Given the description of an element on the screen output the (x, y) to click on. 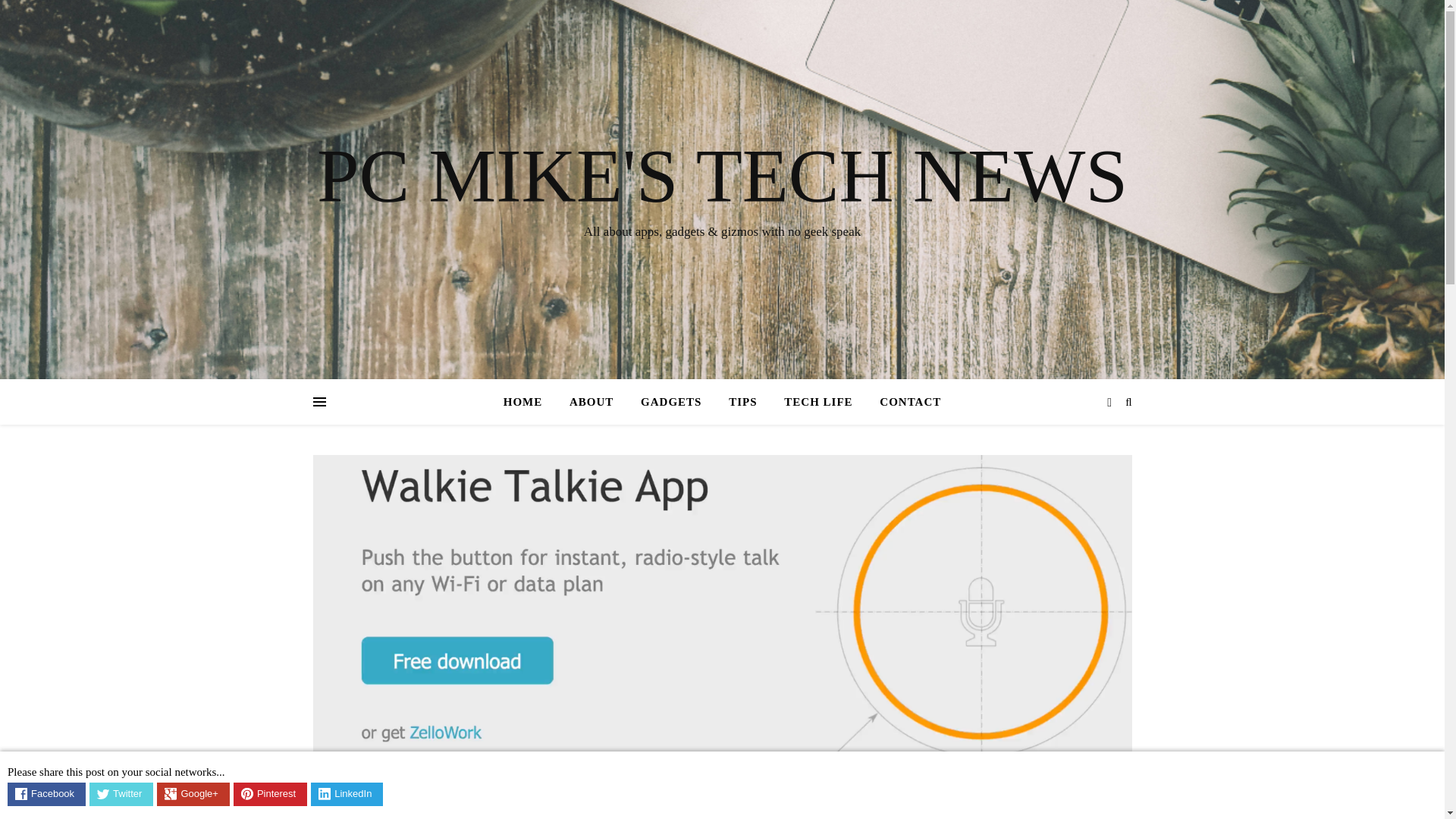
TECH LIFE (817, 402)
CONTACT (903, 402)
TIPS (742, 402)
ABOUT (591, 402)
GADGETS (670, 402)
HOME (528, 402)
